Given the description of an element on the screen output the (x, y) to click on. 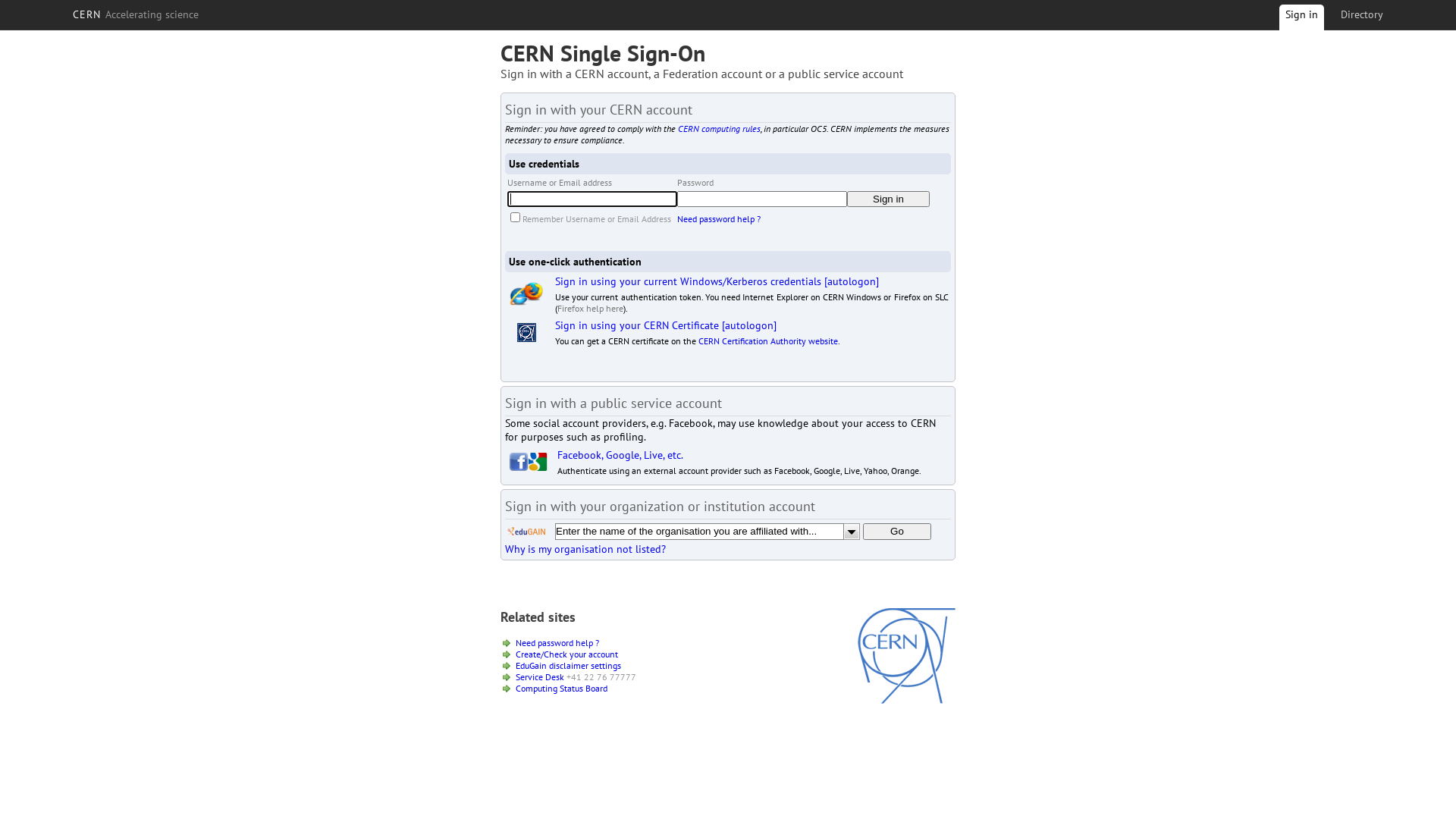
Sign in Element type: text (1301, 19)
CERN Certification Authority website Element type: text (767, 340)
Sign in using your CERN Certificate Element type: text (636, 325)
Service Desk Element type: text (539, 676)
Why is my organisation not listed? Element type: text (585, 548)
CERN Accelerating science Element type: text (135, 14)
Enter your Username or Email Address Element type: hover (592, 199)
Need password help ? Element type: text (557, 642)
CERN computing rules Element type: text (718, 128)
[autologon] Element type: text (851, 281)
Computing Status Board Element type: text (561, 687)
Sign in Element type: text (888, 199)
Create/Check your account Element type: text (566, 653)
[autologon] Element type: text (748, 325)
[show debug information] Element type: text (549, 565)
Directory Element type: text (1361, 14)
Sign in using your current Windows/Kerberos credentials Element type: text (688, 281)
CERN Element type: hover (906, 699)
Need password help ? Element type: text (718, 218)
Go Element type: text (896, 531)
Firefox help here Element type: text (590, 307)
EduGain disclaimer settings Element type: text (568, 665)
CERN Single Sign-On Element type: text (602, 52)
Facebook, Google, Live, etc. Element type: text (620, 454)
